Given the description of an element on the screen output the (x, y) to click on. 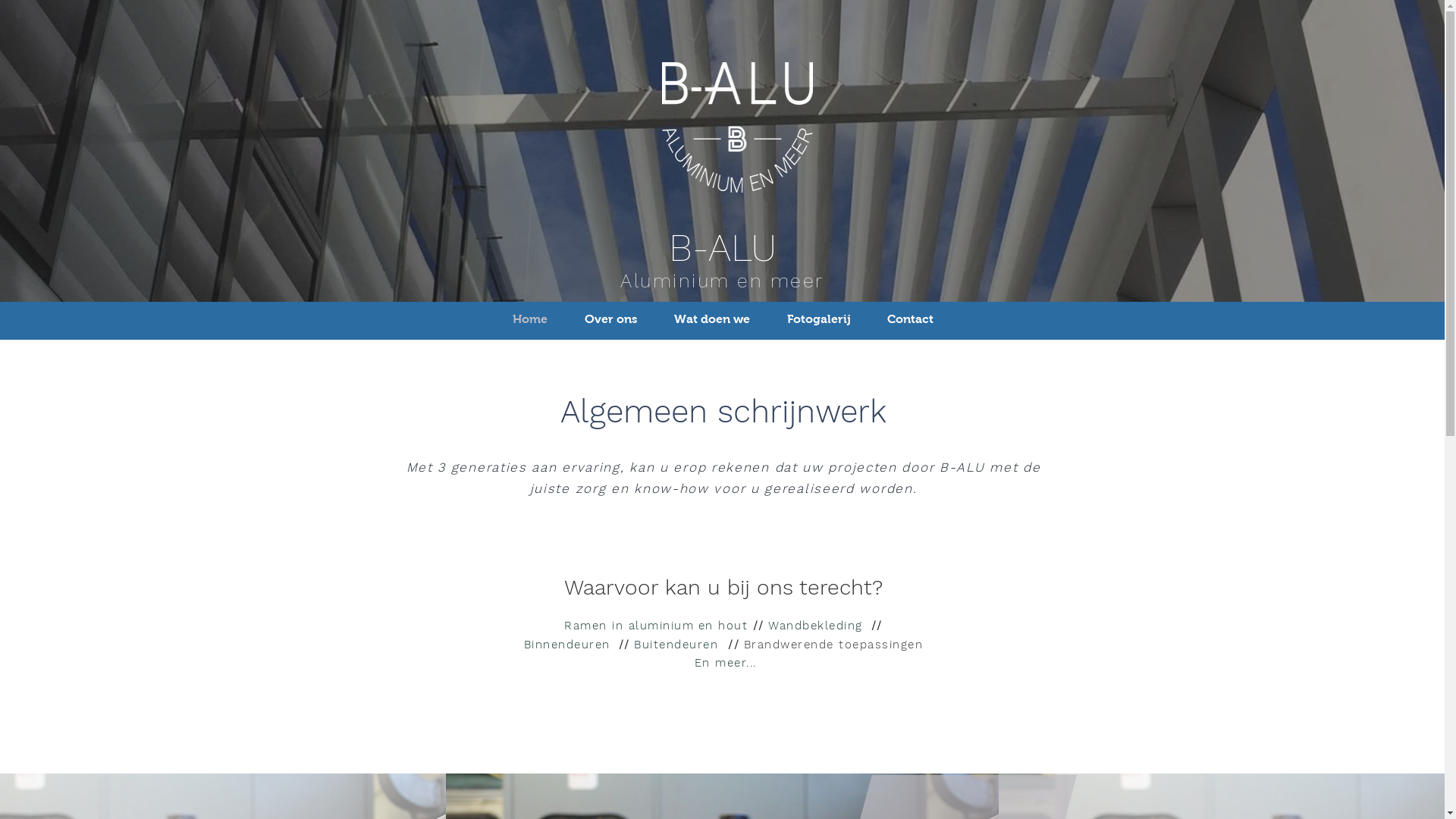
Contact Element type: text (910, 319)
Fotogalerij Element type: text (818, 319)
B-ALU Element type: text (722, 247)
Home Element type: text (530, 319)
Over ons Element type: text (610, 319)
Wat doen we Element type: text (711, 319)
